Given the description of an element on the screen output the (x, y) to click on. 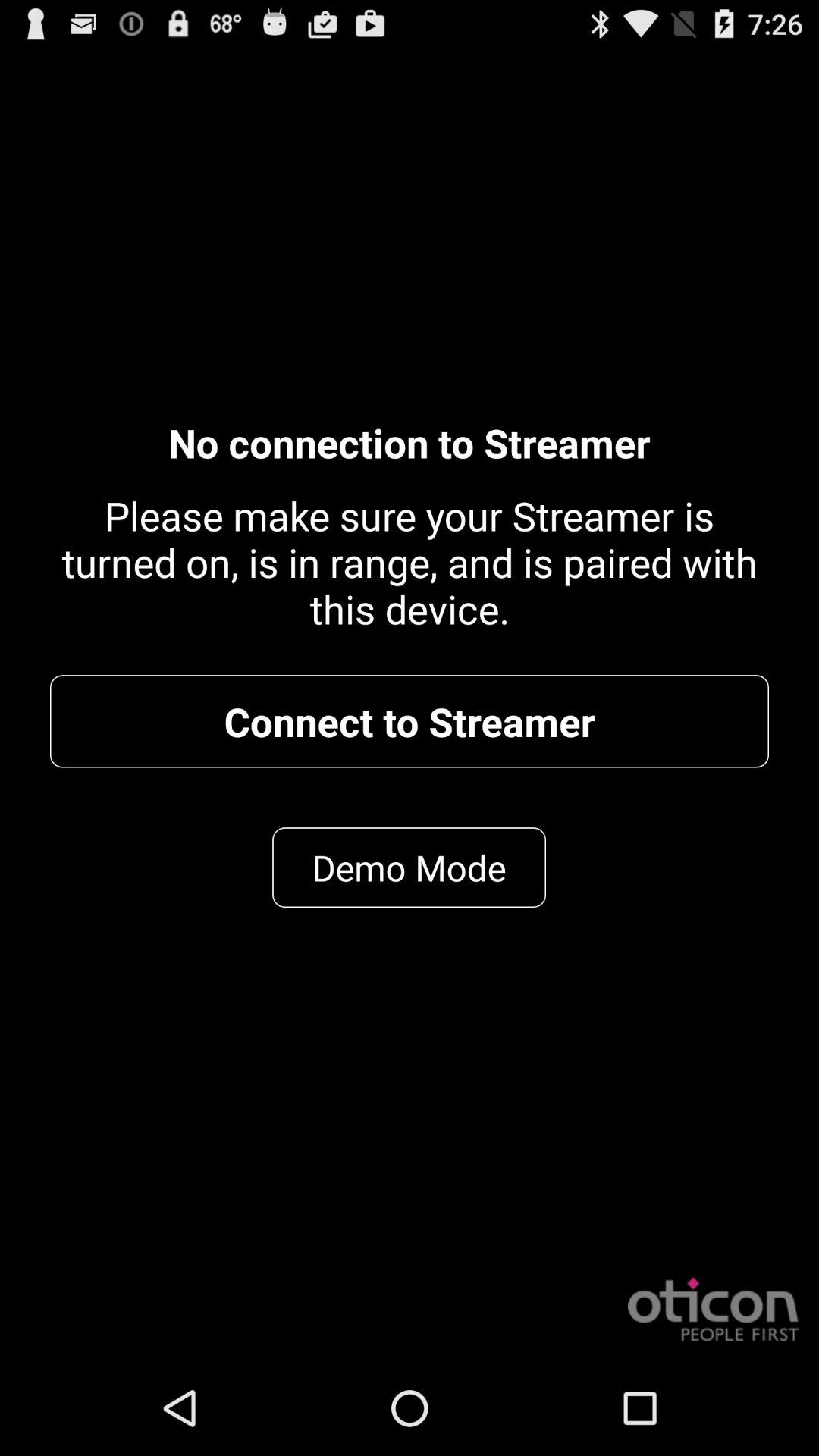
scroll until demo mode item (409, 867)
